Given the description of an element on the screen output the (x, y) to click on. 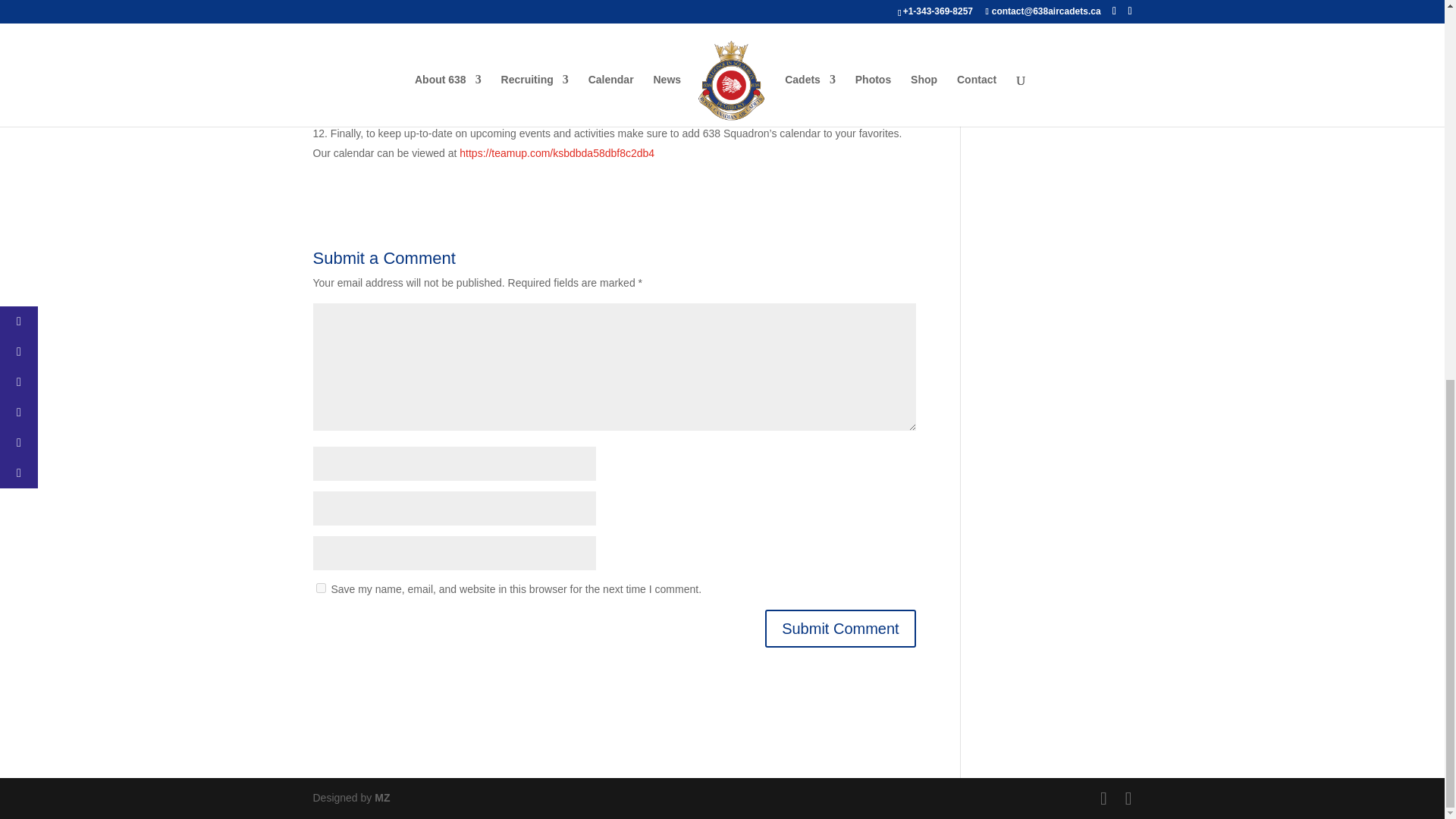
yes (319, 587)
Submit Comment (840, 628)
